Given the description of an element on the screen output the (x, y) to click on. 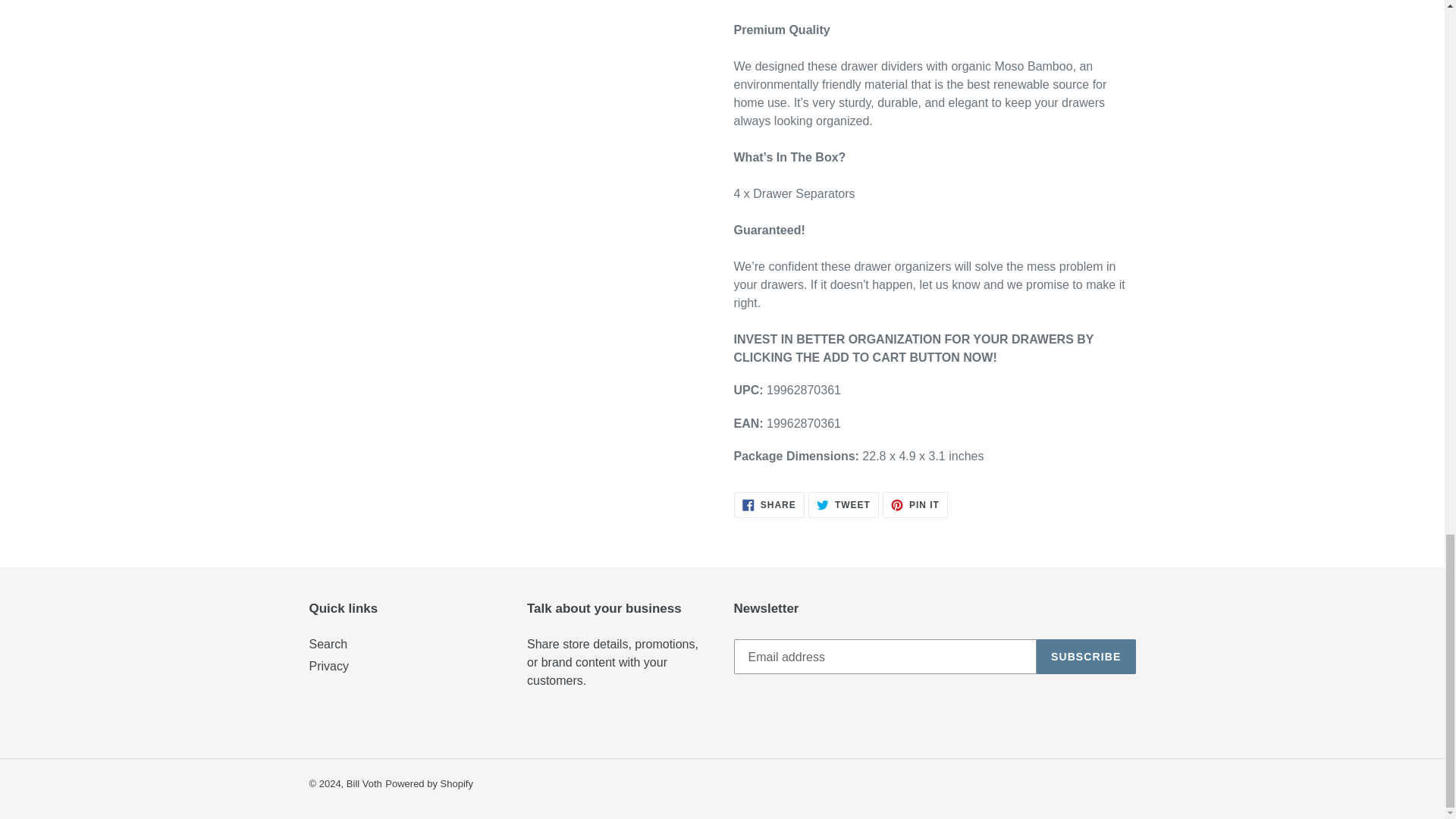
Search (327, 644)
Powered by Shopify (843, 504)
SUBSCRIBE (429, 783)
Privacy (914, 504)
Bill Voth (1085, 656)
